Given the description of an element on the screen output the (x, y) to click on. 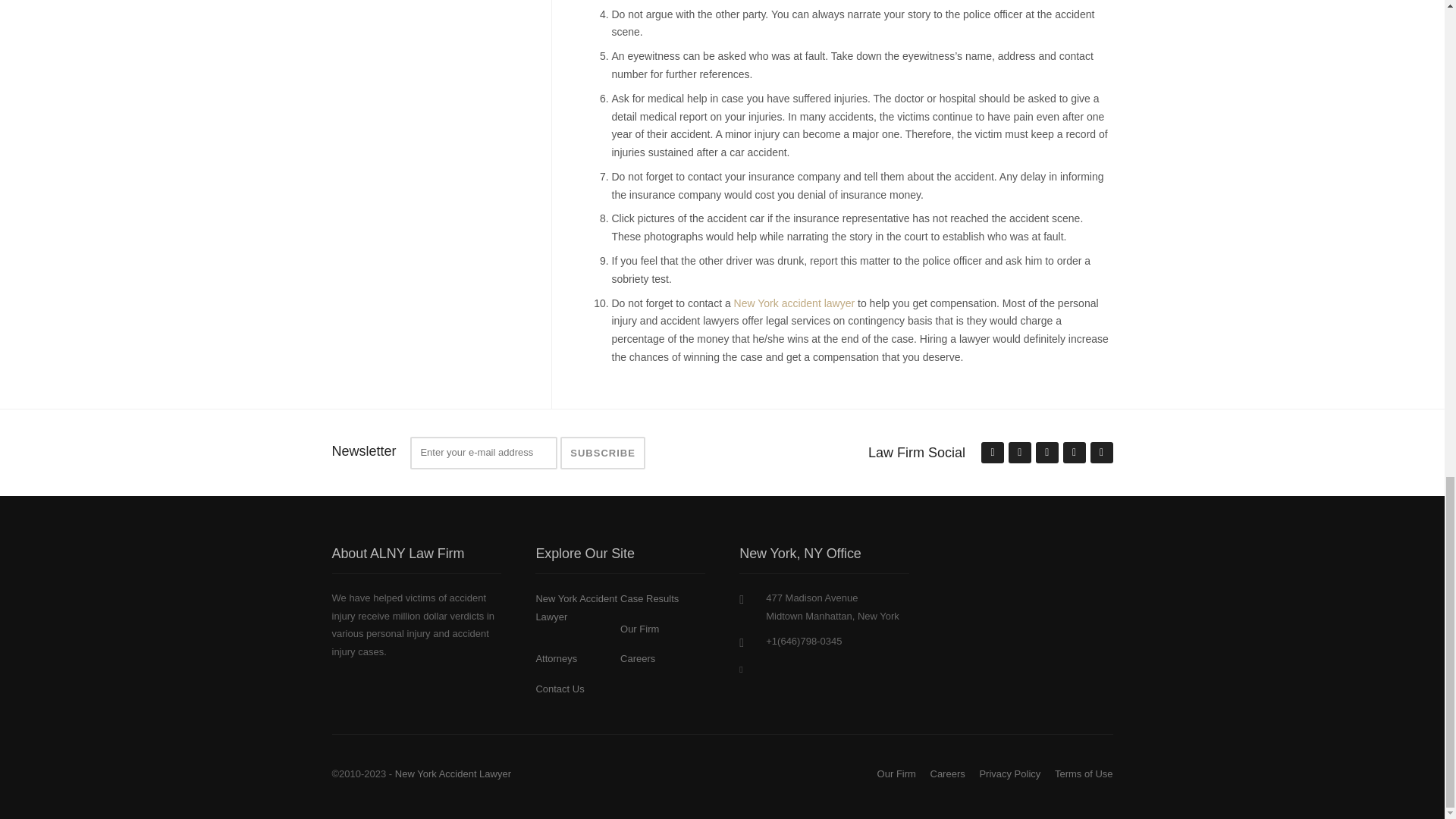
Instagram (1073, 453)
Subscribe (602, 452)
New York Accident Lawyer (576, 606)
Linkedin (1045, 453)
Facebook (1018, 453)
New York accident lawyer (794, 303)
Youtube (1101, 453)
Subscribe (602, 452)
Twitter (991, 453)
